Given the description of an element on the screen output the (x, y) to click on. 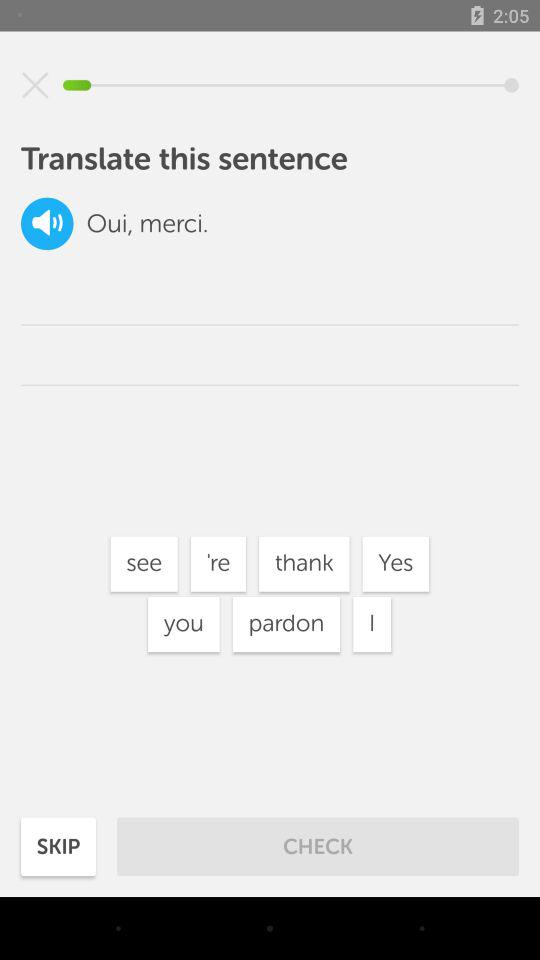
listen to the sentence (47, 223)
